Given the description of an element on the screen output the (x, y) to click on. 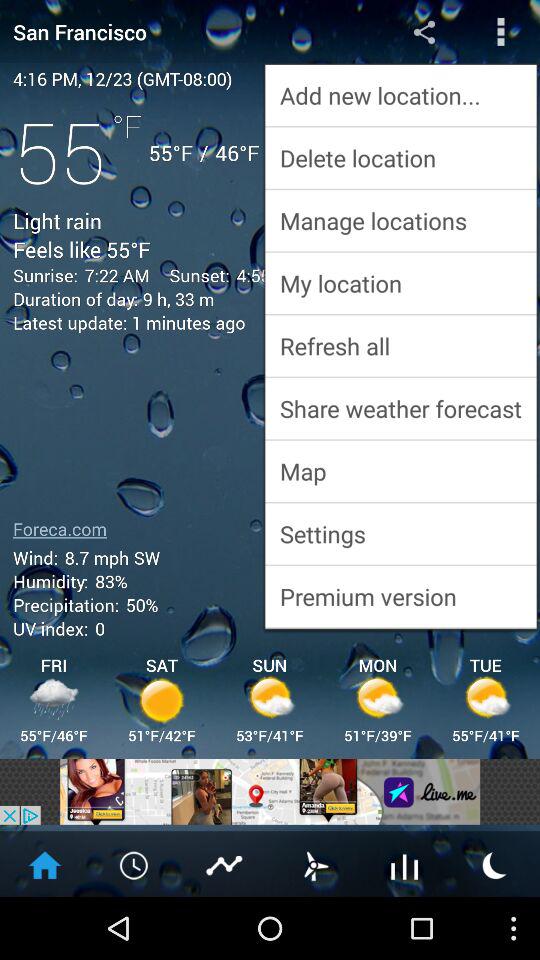
tap the settings item (400, 533)
